Given the description of an element on the screen output the (x, y) to click on. 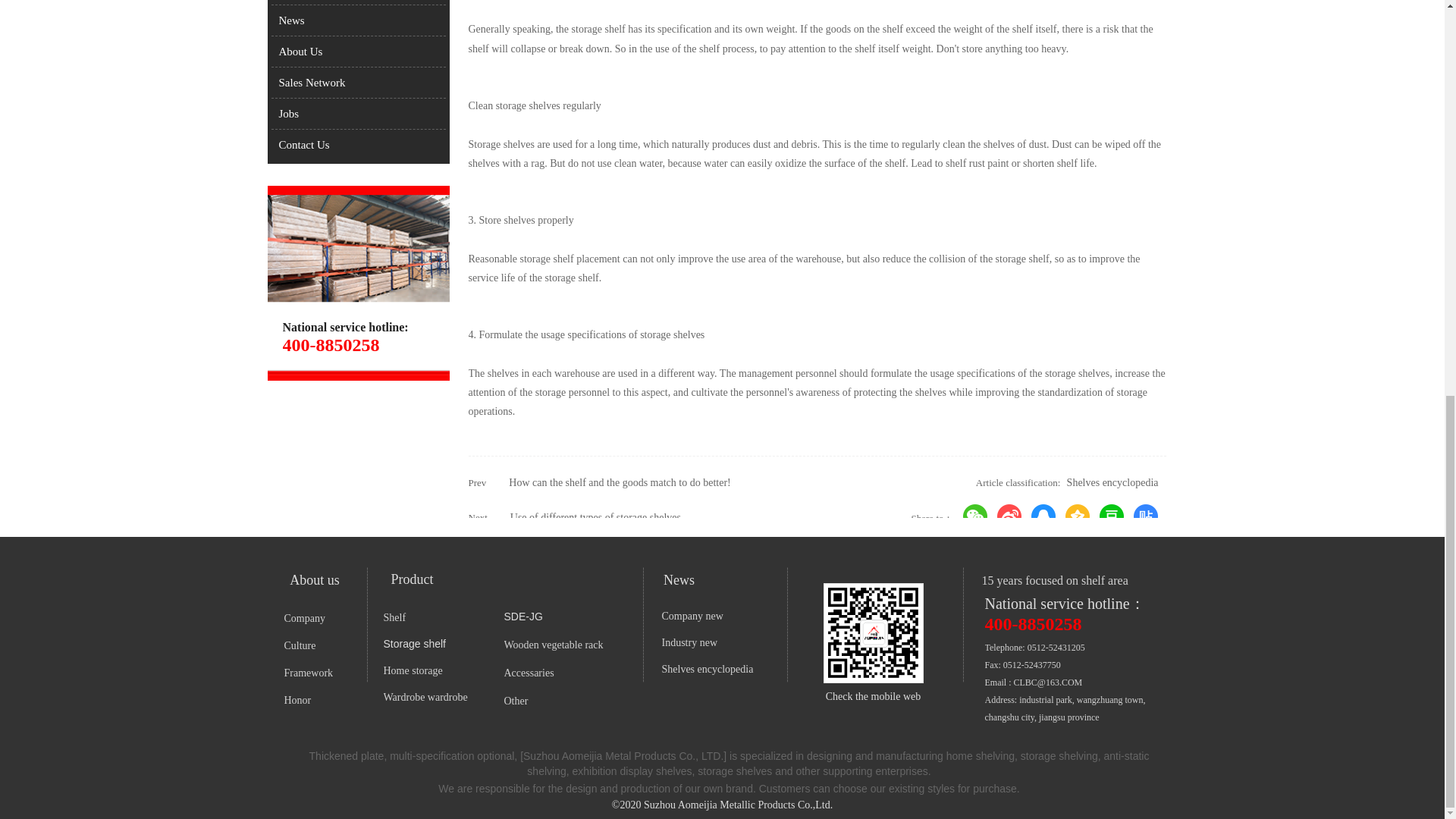
Share to Qzone (1076, 516)
Shelves encyclopedia (1112, 482)
How can the shelf and the goods match to do better! (619, 482)
400-8850258 (1032, 624)
Share to Sina Weibo (1008, 516)
About Us (357, 51)
400-8850258 (330, 345)
Share to WeChat (975, 516)
Use of different types of storage shelves (596, 517)
Share to QQ (1043, 516)
